Given the description of an element on the screen output the (x, y) to click on. 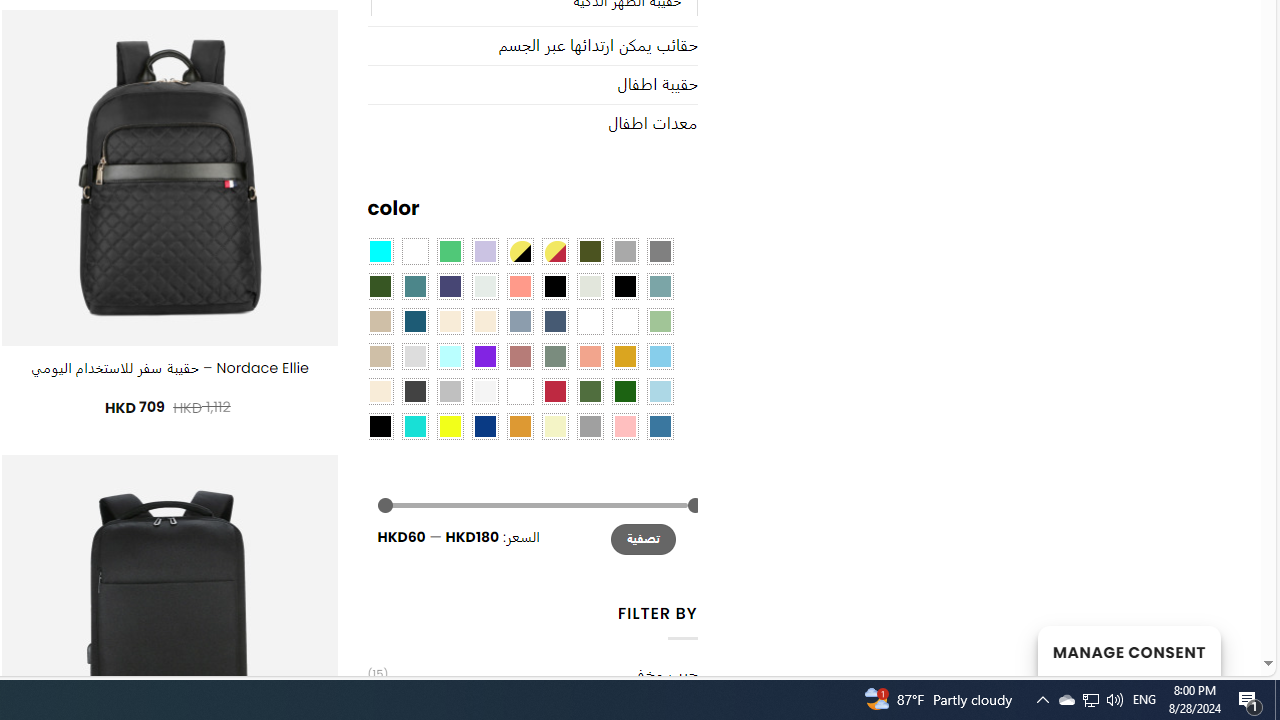
Caramel (449, 321)
Dull Nickle (484, 285)
